Given the description of an element on the screen output the (x, y) to click on. 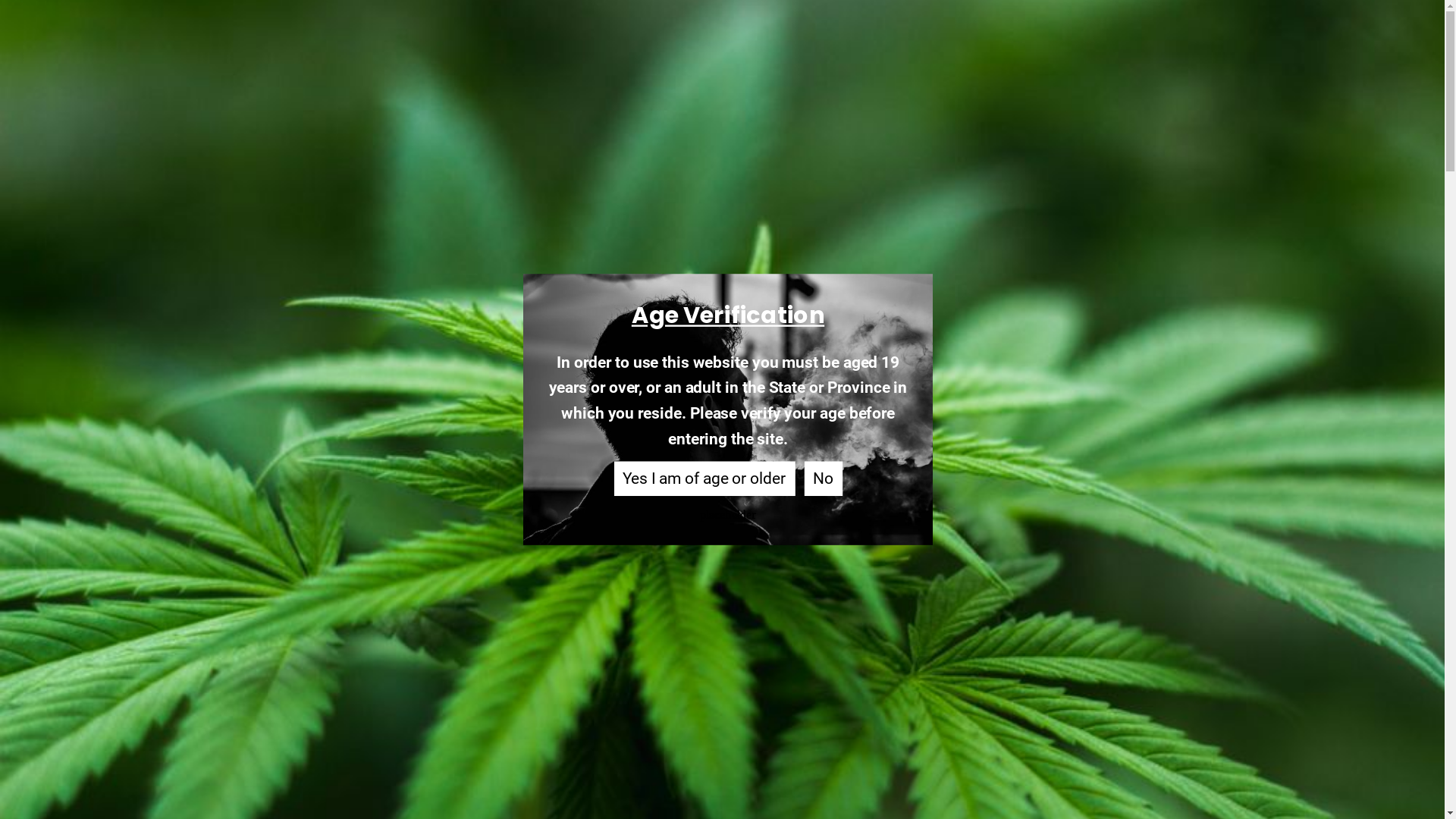
SHIPPING POLICY Element type: text (414, 681)
MENU Element type: text (384, 22)
VIEW CART Element type: text (1059, 22)
Acid Secs Productions Inc. Element type: text (735, 759)
Twitter Element type: text (398, 768)
Shipping Element type: text (672, 774)
REFUND POLICY Element type: text (410, 659)
PRIVACY POLICY Element type: text (411, 613)
Tumblr Element type: text (501, 768)
Skip to content Element type: text (0, 0)
Vimeo Element type: text (553, 768)
TERMS OF SERVICE Element type: text (418, 636)
Snapchat Element type: text (475, 768)
YouTube Element type: text (527, 768)
Pinterest Element type: text (424, 768)
Acid Secs Productions Inc. Element type: text (722, 23)
Facebook Element type: text (372, 768)
Powered by Shopify Element type: text (772, 769)
ABOUT US Element type: text (396, 591)
SUBSCRIBE Element type: text (1033, 660)
CONTACT US Element type: text (402, 703)
Instagram Element type: text (450, 768)
